Given the description of an element on the screen output the (x, y) to click on. 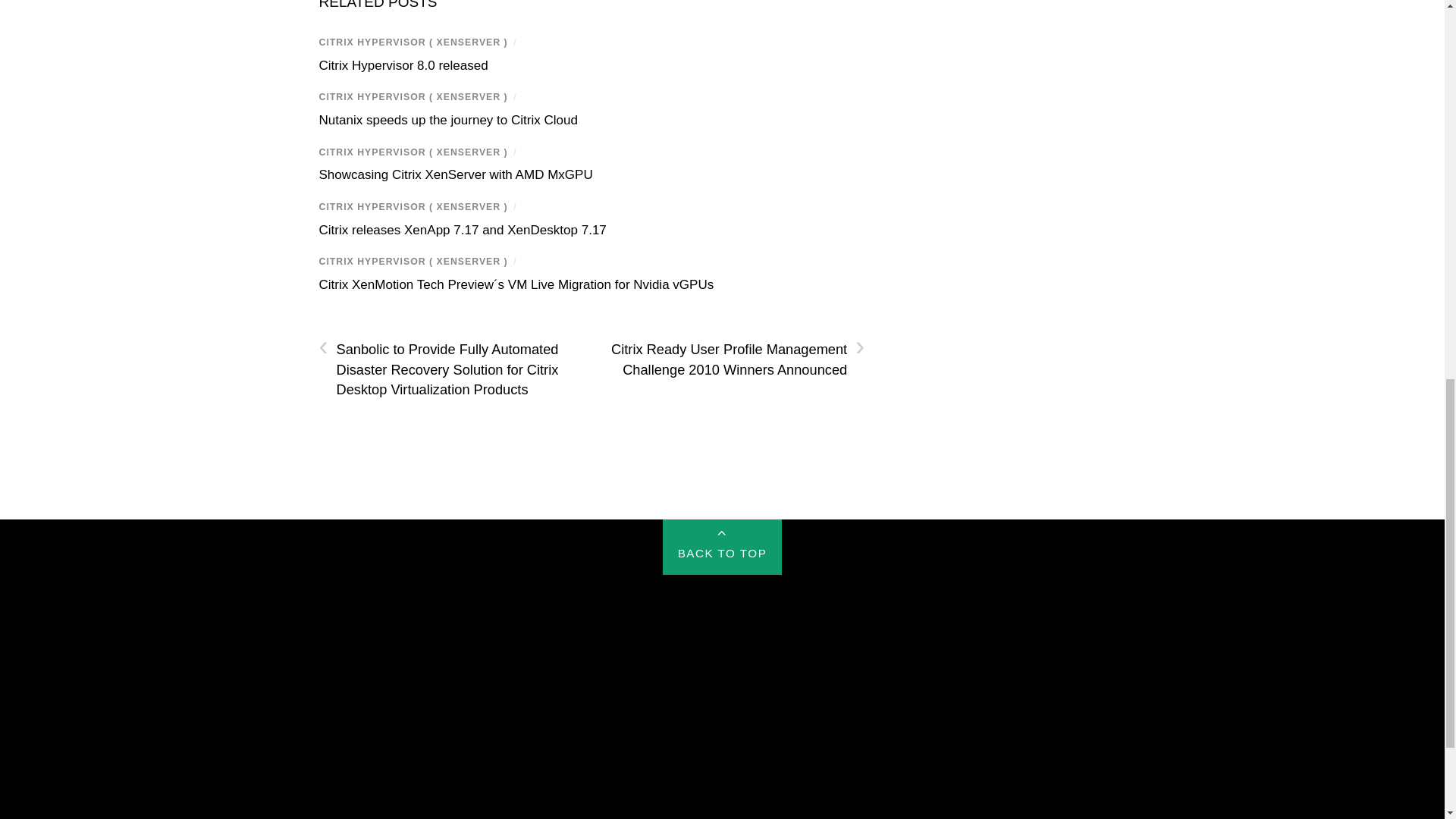
Citrix Hypervisor 8.0 released (402, 65)
Nutanix speeds up the journey to Citrix Cloud (447, 120)
Showcasing Citrix XenServer with AMD MxGPU (455, 174)
Citrix releases XenApp 7.17 and XenDesktop 7.17 (461, 229)
